Given the description of an element on the screen output the (x, y) to click on. 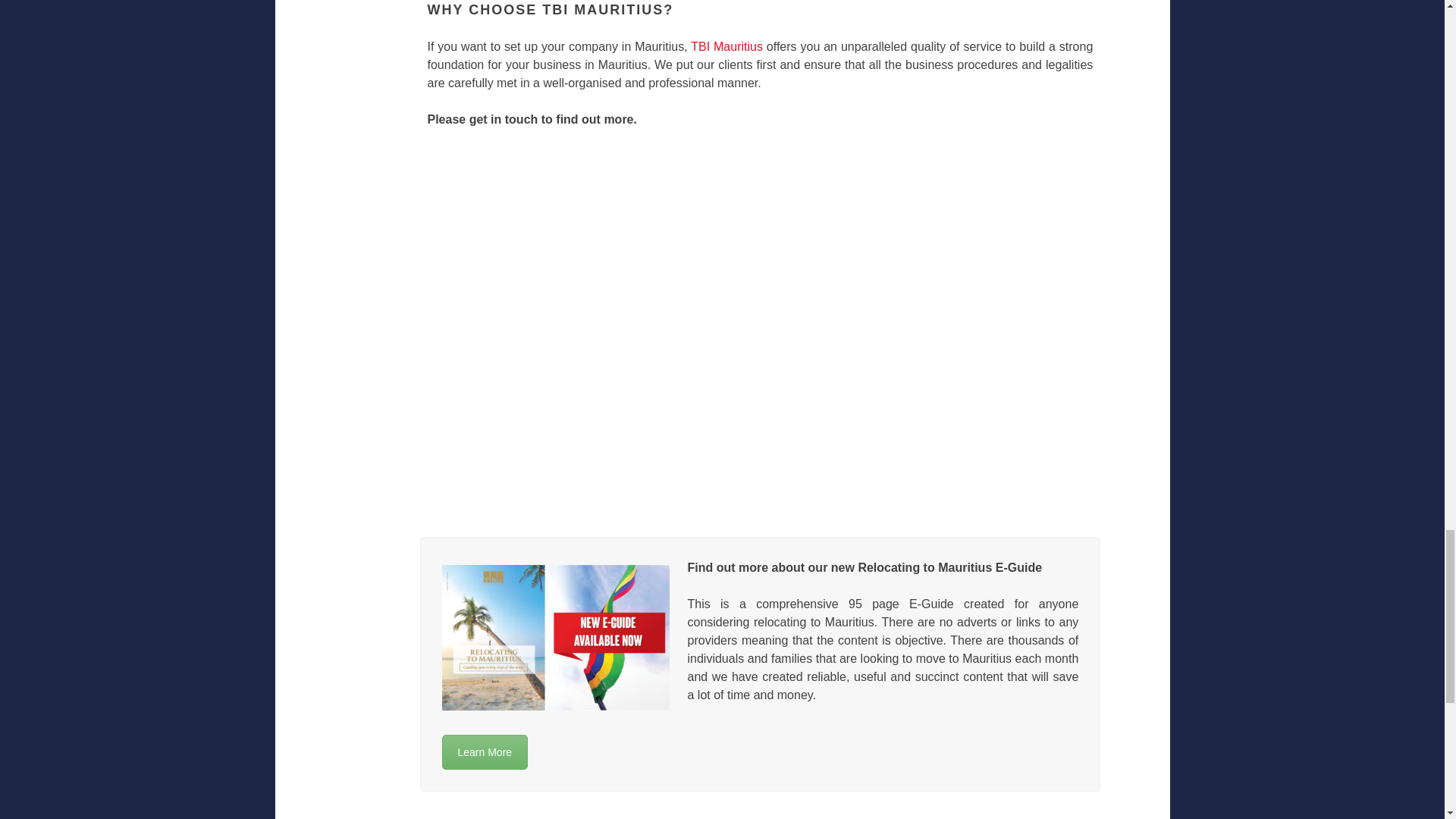
Learn More (484, 751)
TBI Mauritius (726, 46)
Relocating to Mauritius - E-Guide (484, 751)
